Given the description of an element on the screen output the (x, y) to click on. 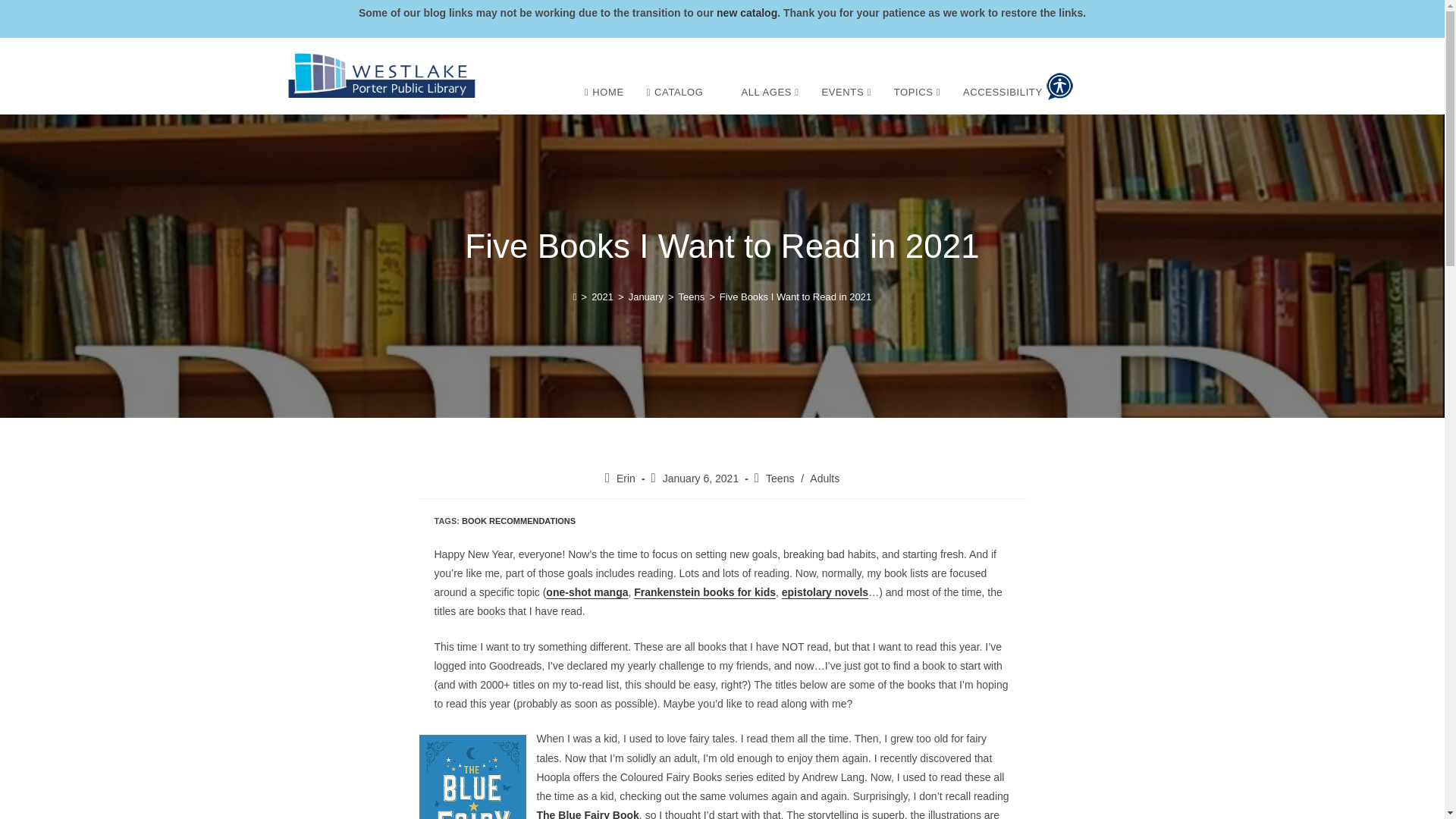
Posts by Erin (624, 478)
HOME (603, 92)
ACCESSIBILITY  (1018, 86)
CATALOG (674, 92)
Go to WPPL's main website (380, 75)
ALL AGES (769, 92)
TOPICS (917, 92)
new catalog (746, 12)
EVENTS (846, 92)
